Given the description of an element on the screen output the (x, y) to click on. 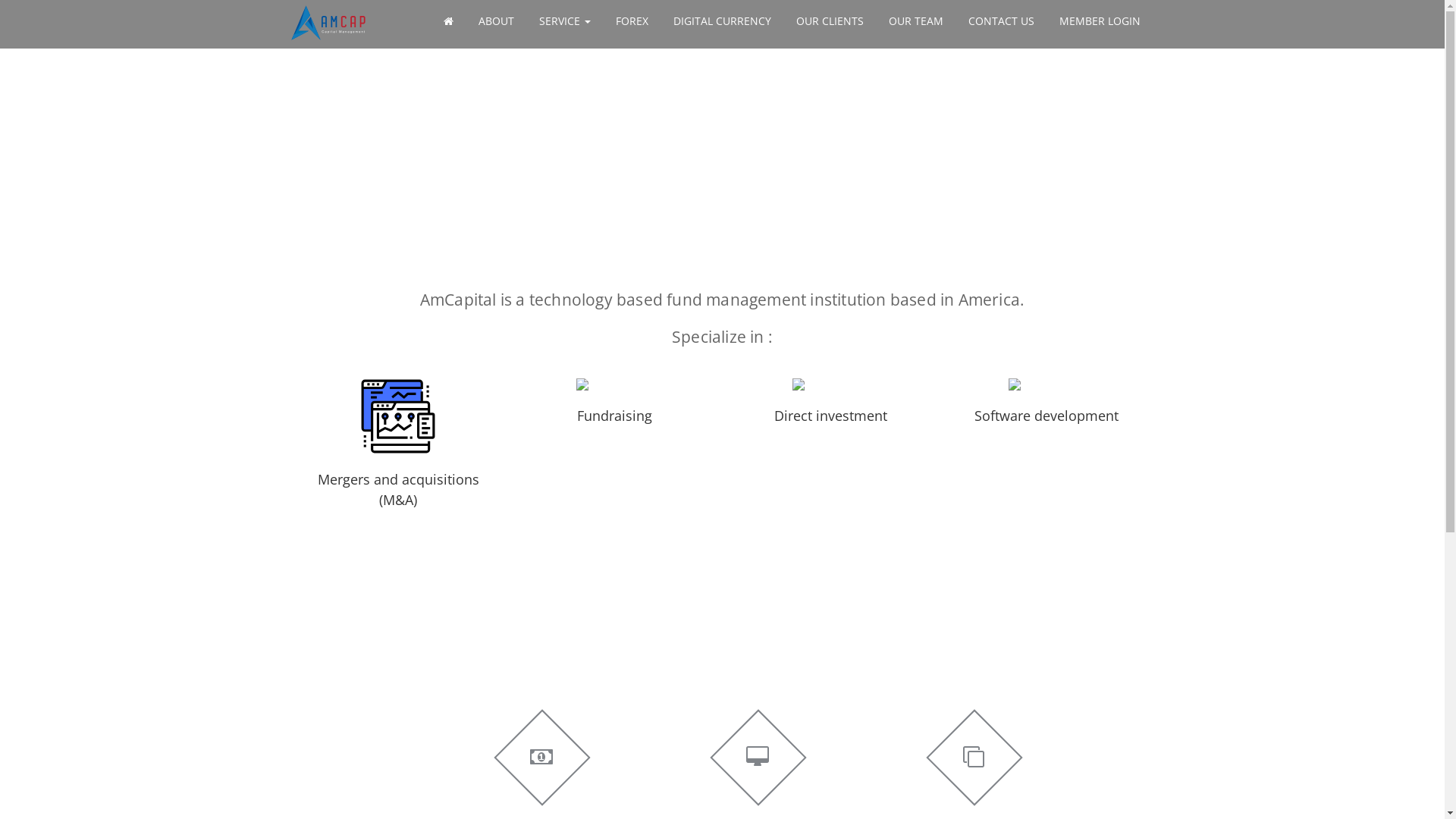
DIGITAL CURRENCY Element type: text (721, 21)
CONTACT US Element type: text (1000, 21)
ABOUT Element type: text (495, 21)
FOREX Element type: text (631, 21)
OUR TEAM Element type: text (915, 21)
SERVICE Element type: text (563, 21)
OUR CLIENTS Element type: text (829, 21)
MEMBER LOGIN Element type: text (1099, 21)
